Given the description of an element on the screen output the (x, y) to click on. 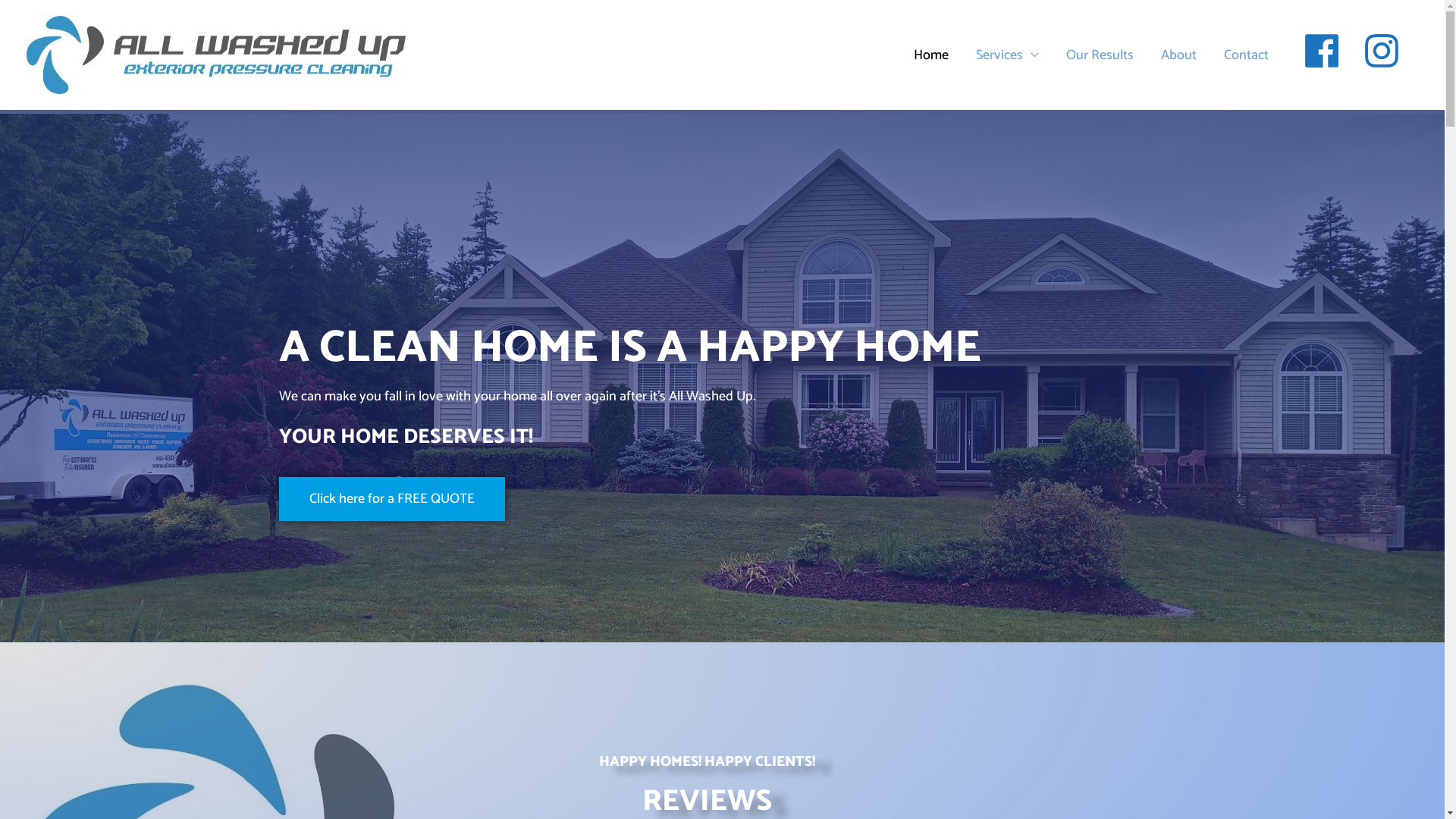
About Element type: text (1178, 54)
Services Element type: text (1007, 54)
Contact Element type: text (1246, 54)
Click here for a FREE QUOTE Element type: text (392, 498)
Our Results Element type: text (1099, 54)
Home Element type: text (931, 54)
